Given the description of an element on the screen output the (x, y) to click on. 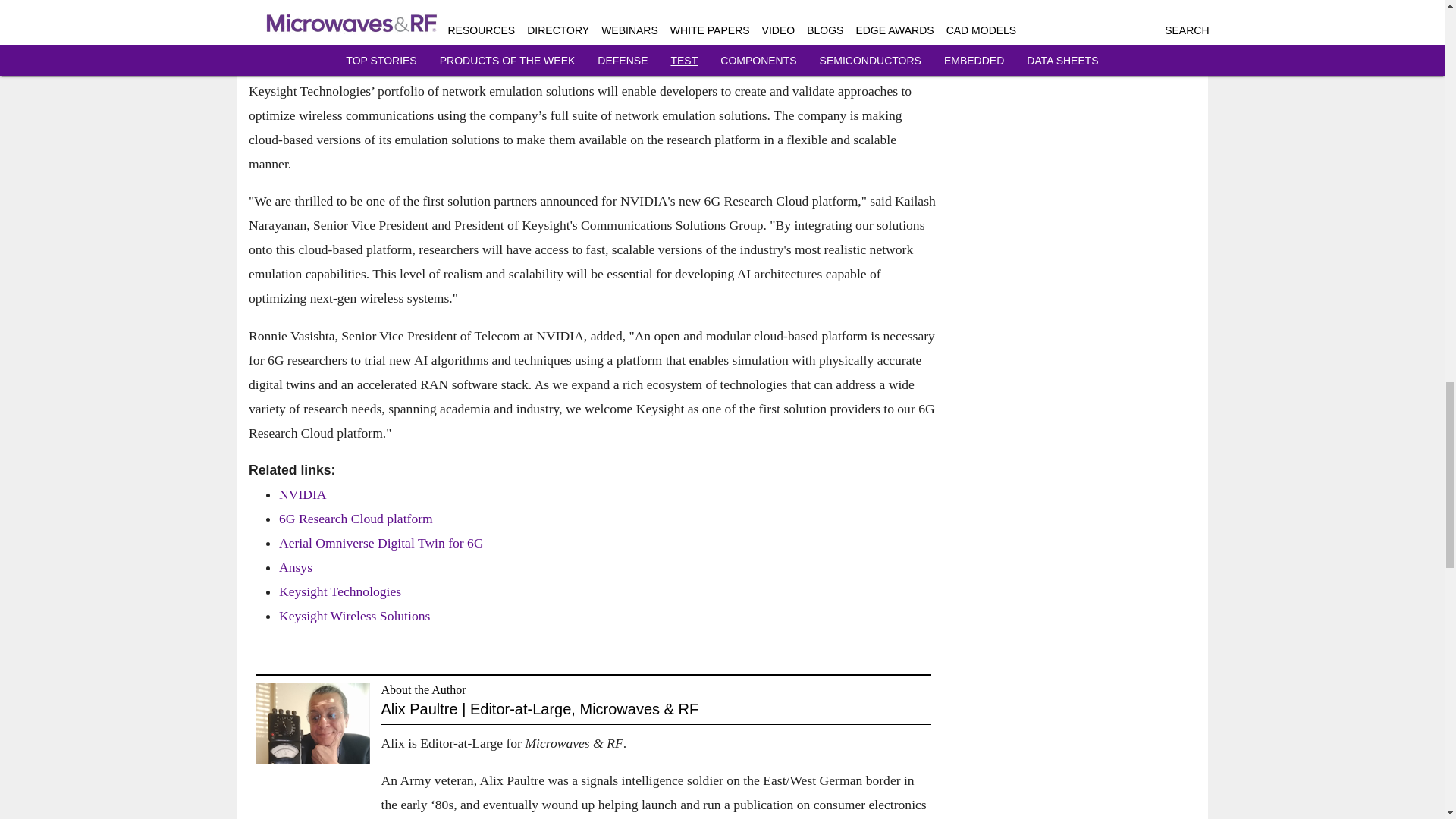
Aerial Omniverse Digital Twin for 6G (381, 543)
6G Research Cloud platform (355, 519)
NVIDIA (302, 494)
Keysight Technologies (340, 591)
Ansys (296, 567)
